Given the description of an element on the screen output the (x, y) to click on. 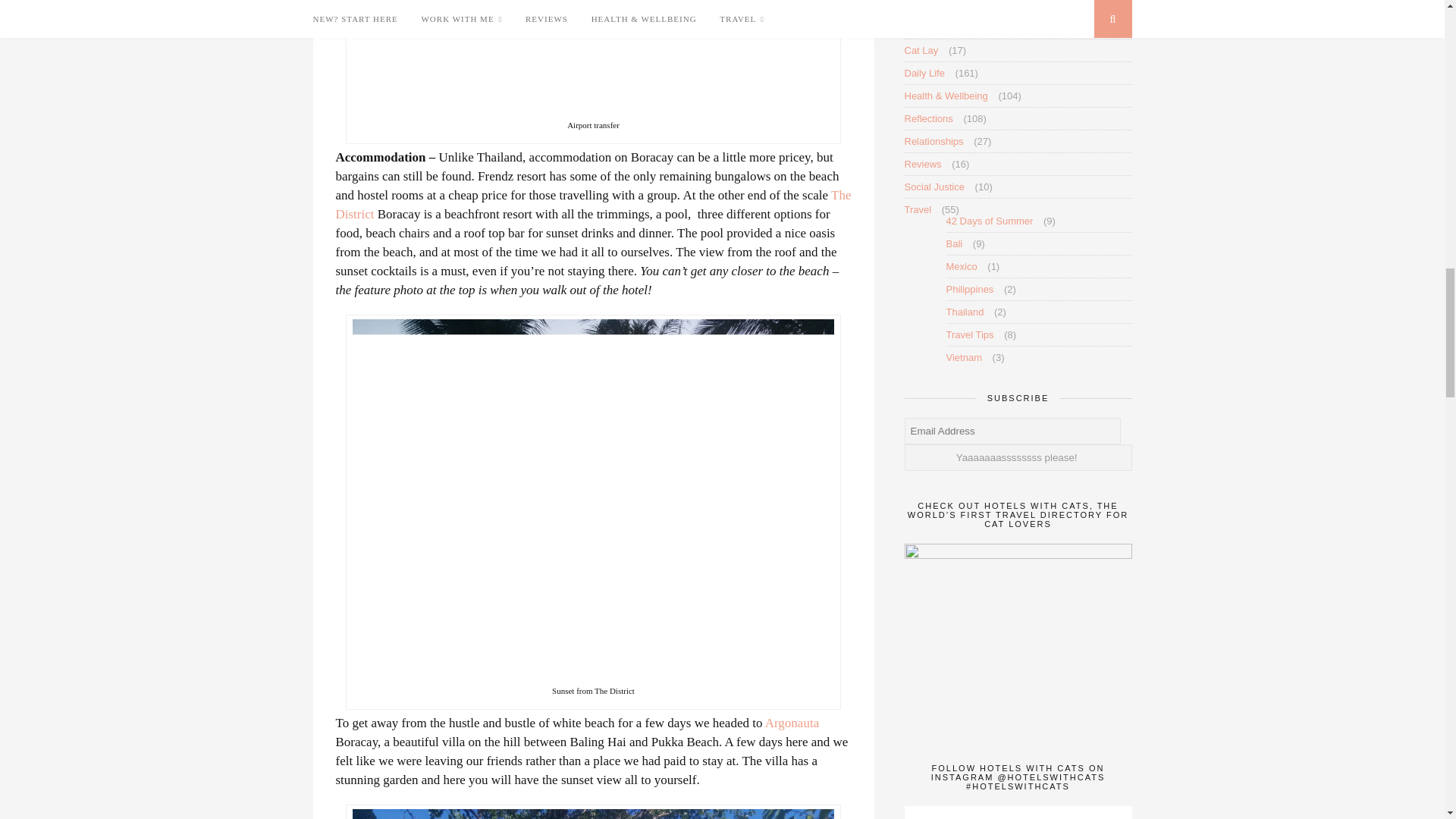
Argonauta (791, 722)
The District (592, 204)
Yaaaaaaassssssss please!  (1017, 457)
